Given the description of an element on the screen output the (x, y) to click on. 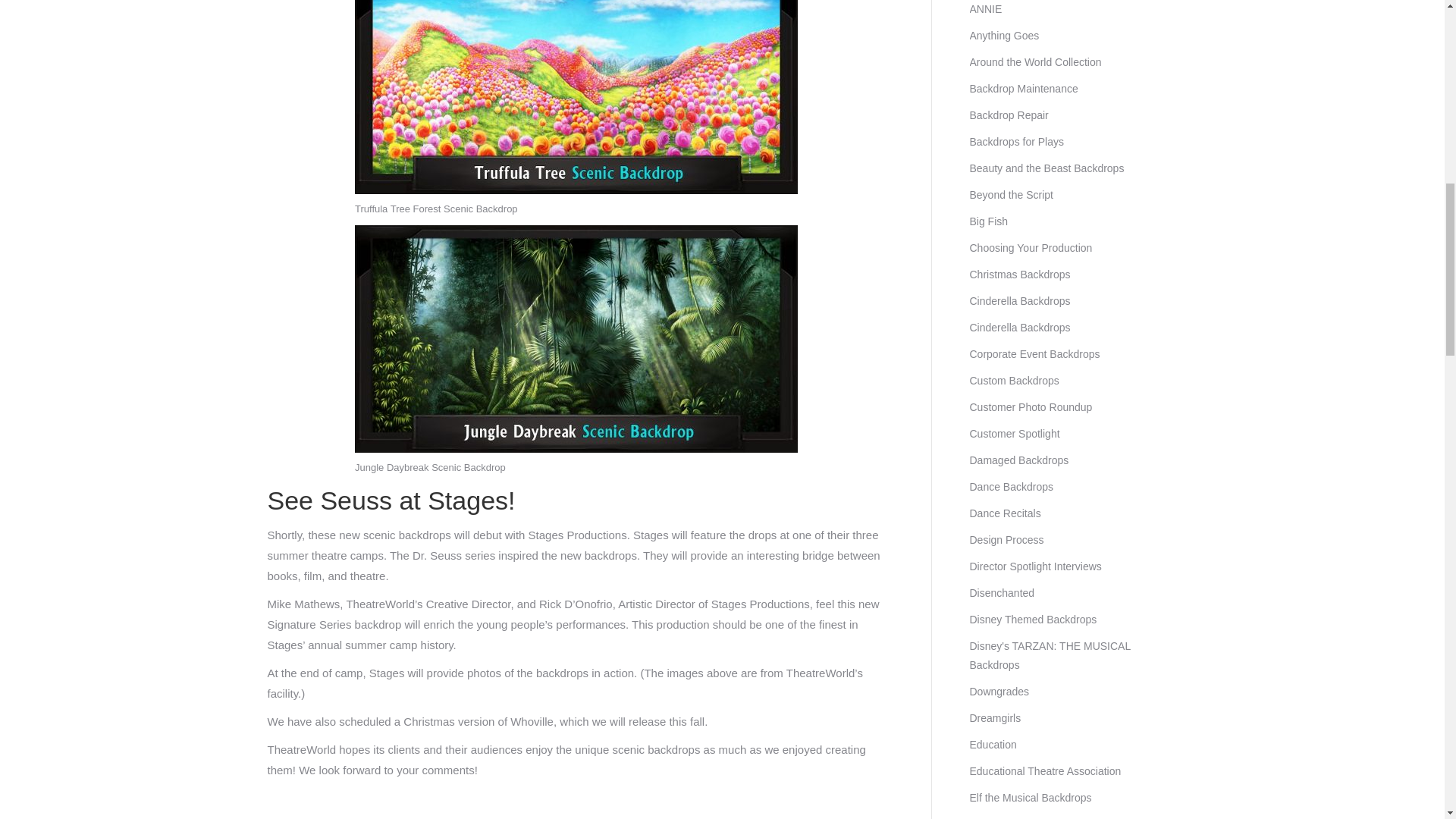
By cblog (761, 818)
June 16, 2012 (819, 818)
Truffula Tree Forest Scenic Backdrop (576, 97)
5:58 am (819, 818)
View all posts by cblog (761, 818)
Jungle Daybreak Scenic Backdrop (576, 338)
